Given the description of an element on the screen output the (x, y) to click on. 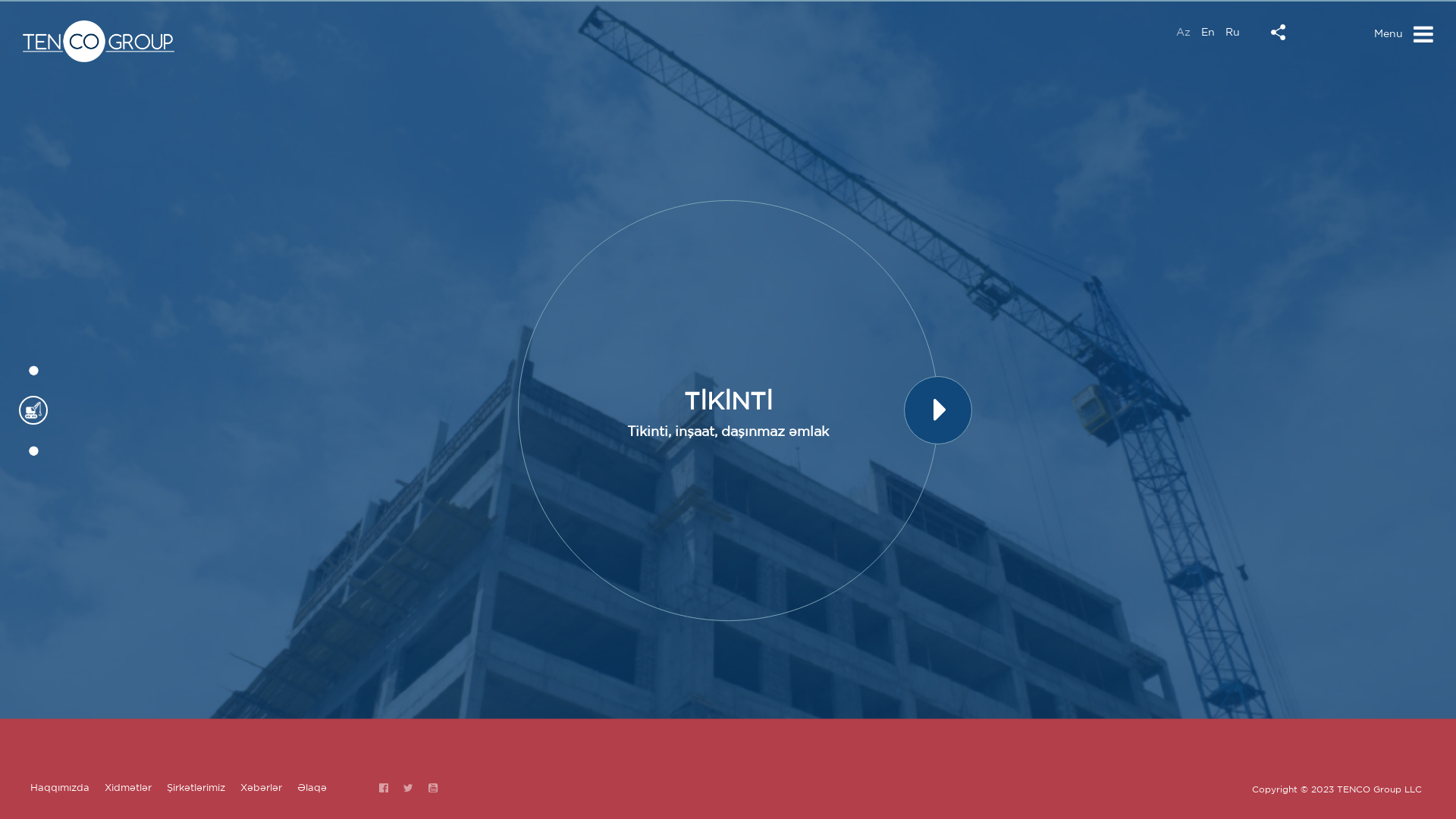
Youtube Element type: hover (432, 787)
Ru Element type: text (1232, 31)
Twitter Element type: hover (408, 787)
Facebook Element type: hover (383, 787)
Az Element type: text (1183, 31)
En Element type: text (1207, 31)
